Given the description of an element on the screen output the (x, y) to click on. 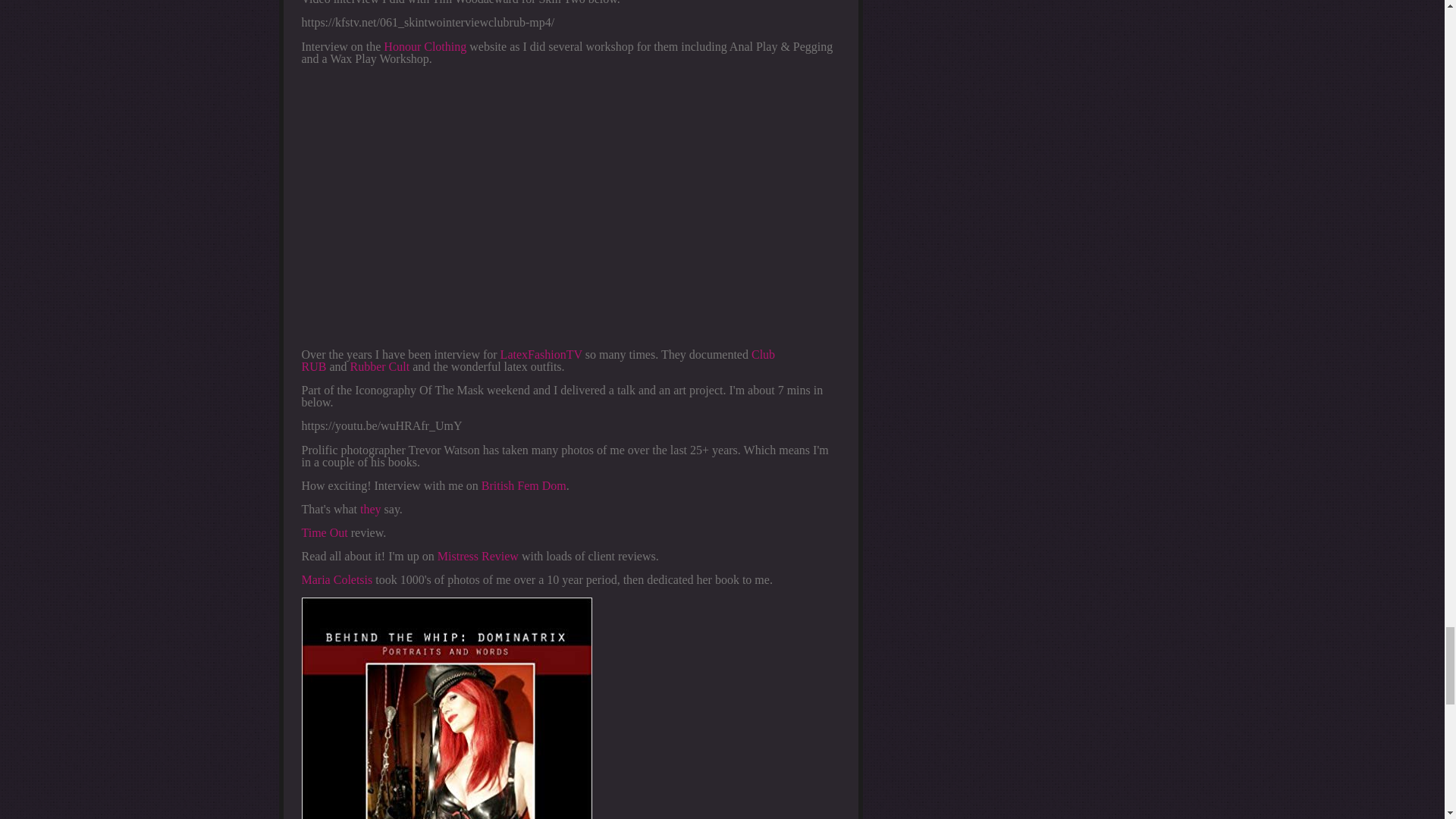
Honour Clothing (424, 46)
LatexFashionTV (541, 354)
Club RUB (538, 360)
